Given the description of an element on the screen output the (x, y) to click on. 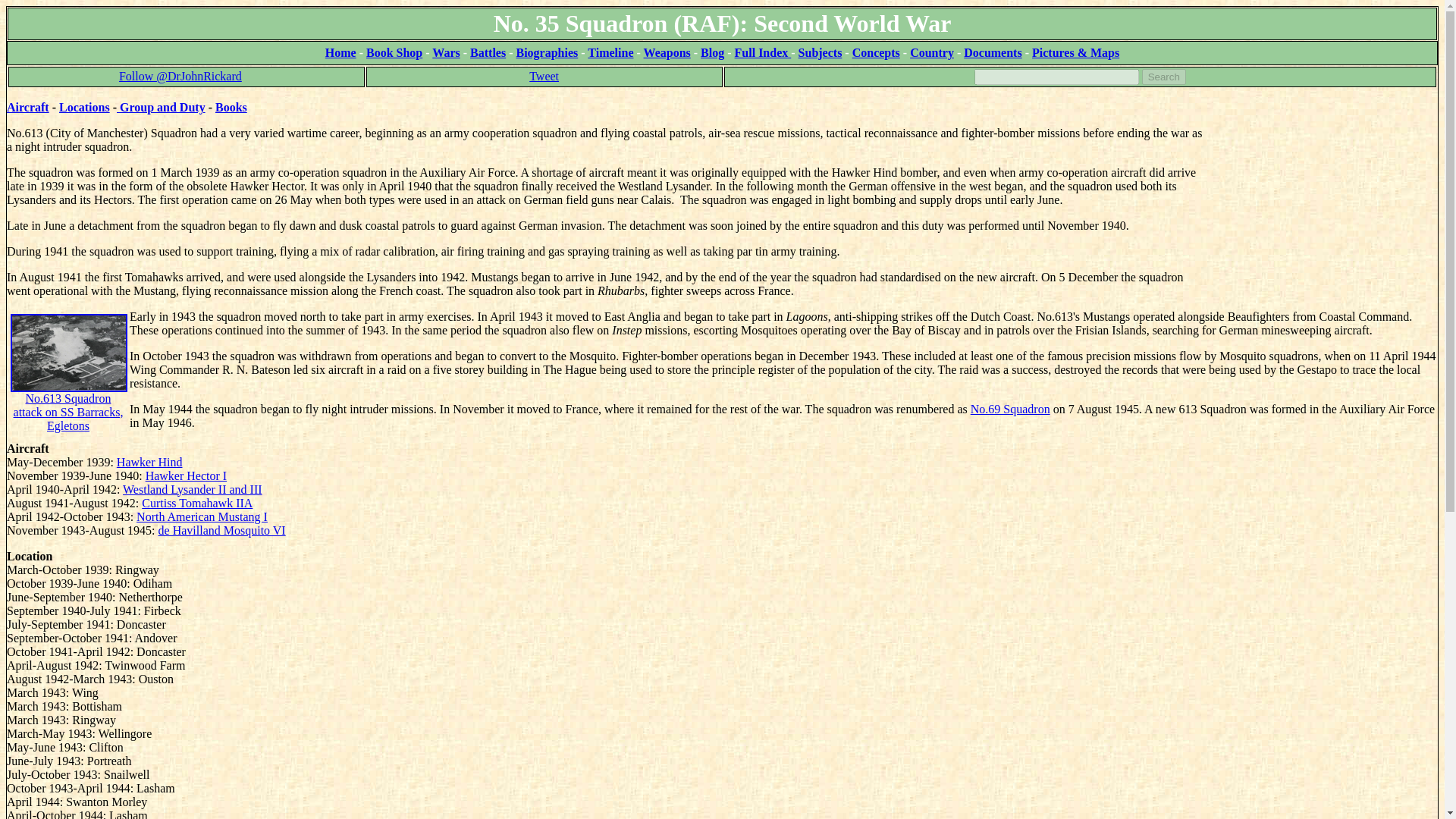
Curtiss Tomahawk IIA (196, 502)
Link to our discussion forum (1075, 51)
No.613 Squadron attack on SS Barracks, Egletons  (69, 388)
Weapons (666, 51)
Main Index of articles (763, 51)
Link to our blog (711, 51)
Group and Duty (160, 106)
indexes organised by country (931, 51)
Locations (84, 106)
Return to Home Page (340, 51)
Books (231, 106)
Index of biographies (546, 51)
Westland Lysander II and III (192, 489)
Index of articles on military concepts (875, 51)
Hawker Hector I (186, 475)
